Given the description of an element on the screen output the (x, y) to click on. 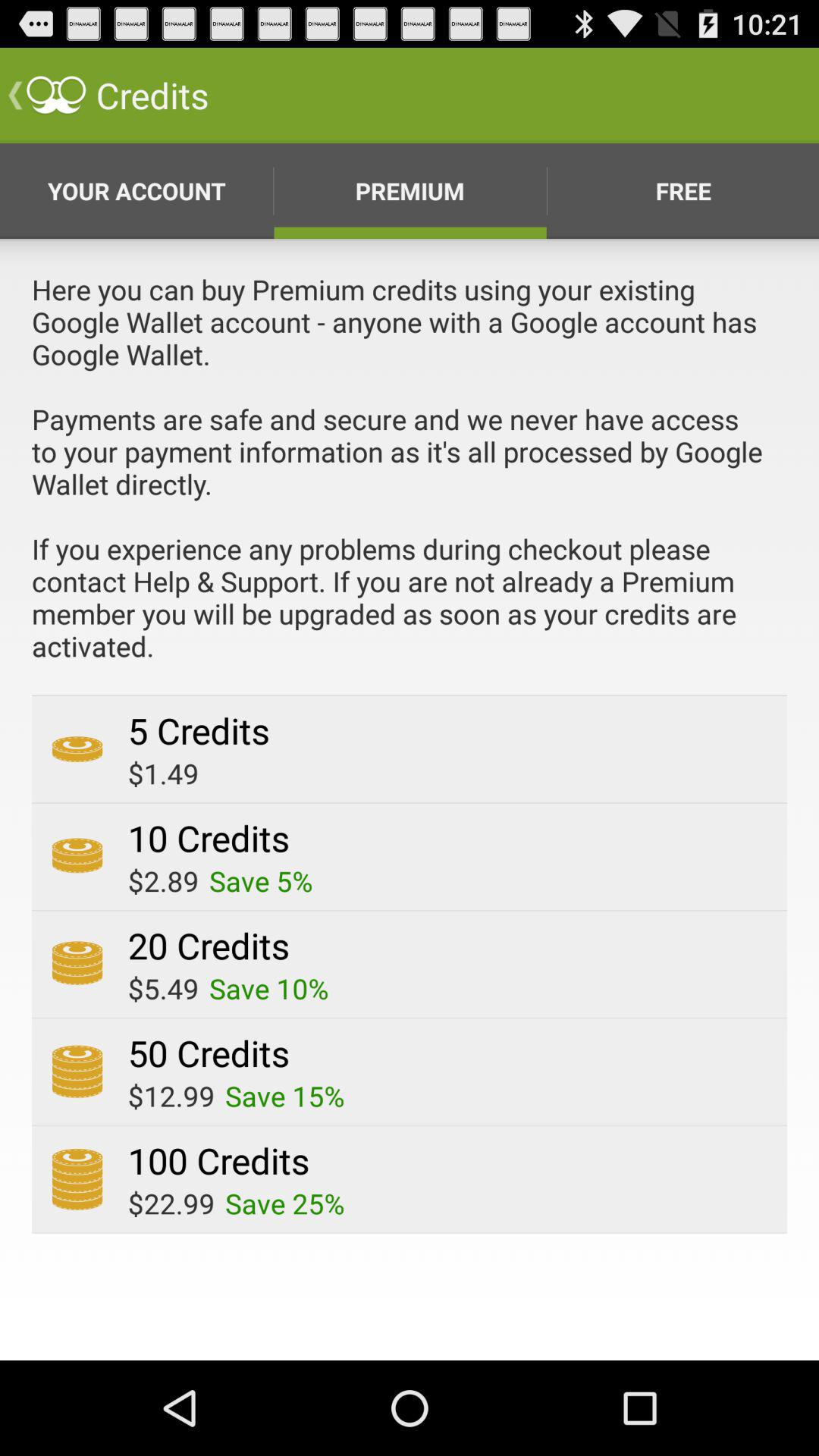
tap item above the 5 credits icon (409, 482)
